Given the description of an element on the screen output the (x, y) to click on. 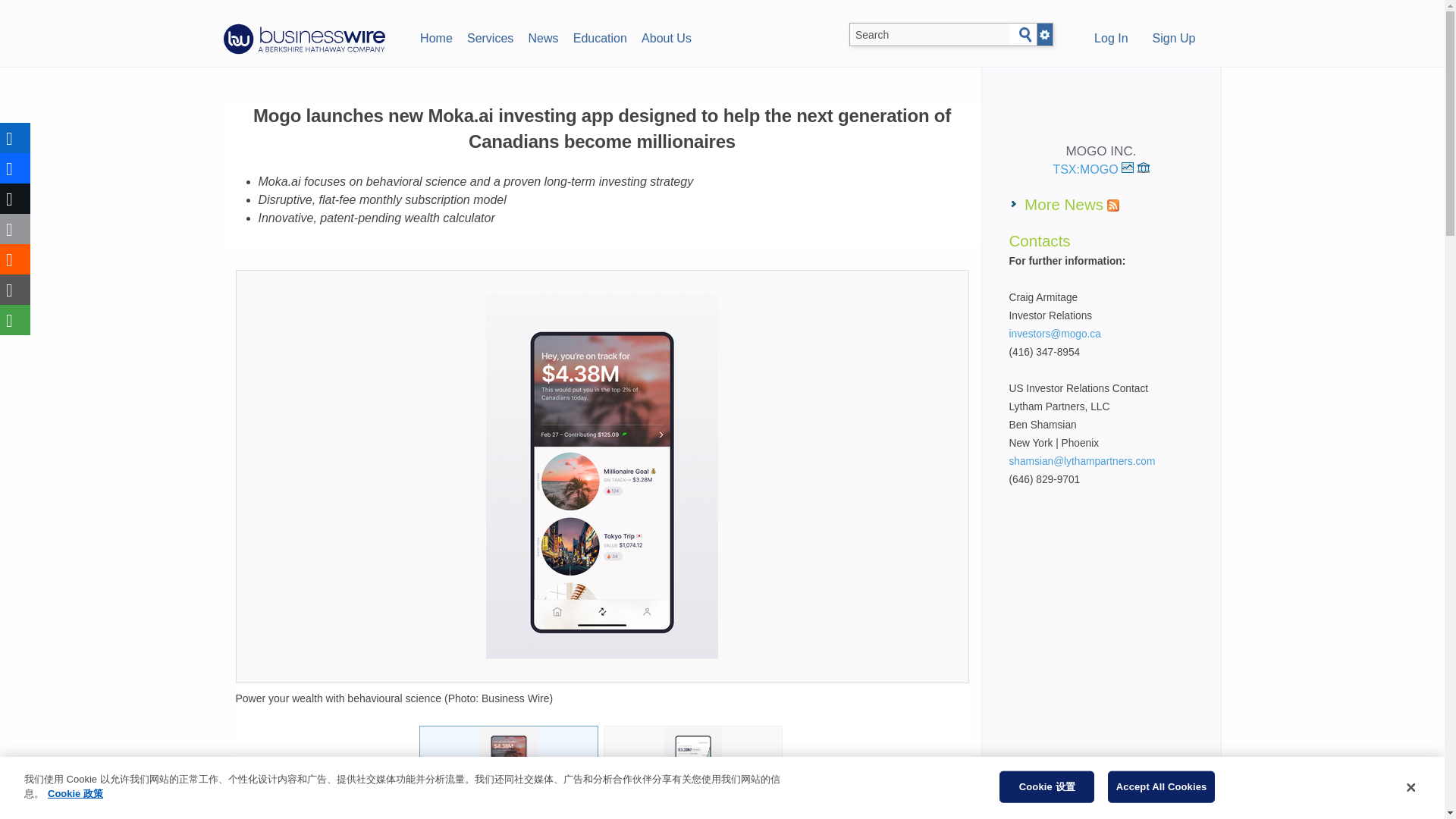
RSS feed for Mogo Inc. (1112, 205)
View SEC Filings (1143, 167)
TSX:MOGO (1093, 169)
View stock quote and chart (1127, 167)
